Given the description of an element on the screen output the (x, y) to click on. 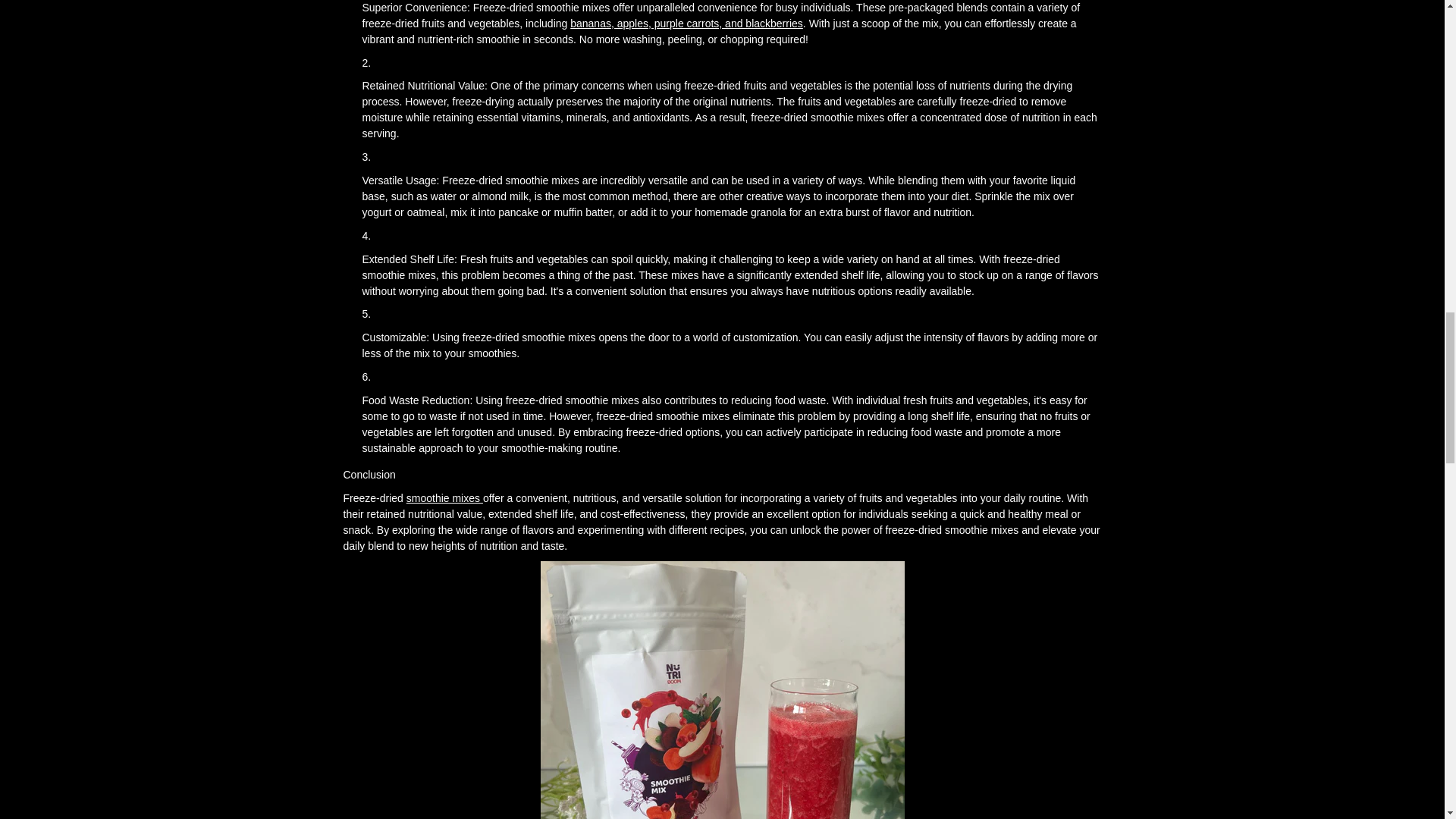
freeze dried smoothie box with 7 recipes (444, 498)
